Given the description of an element on the screen output the (x, y) to click on. 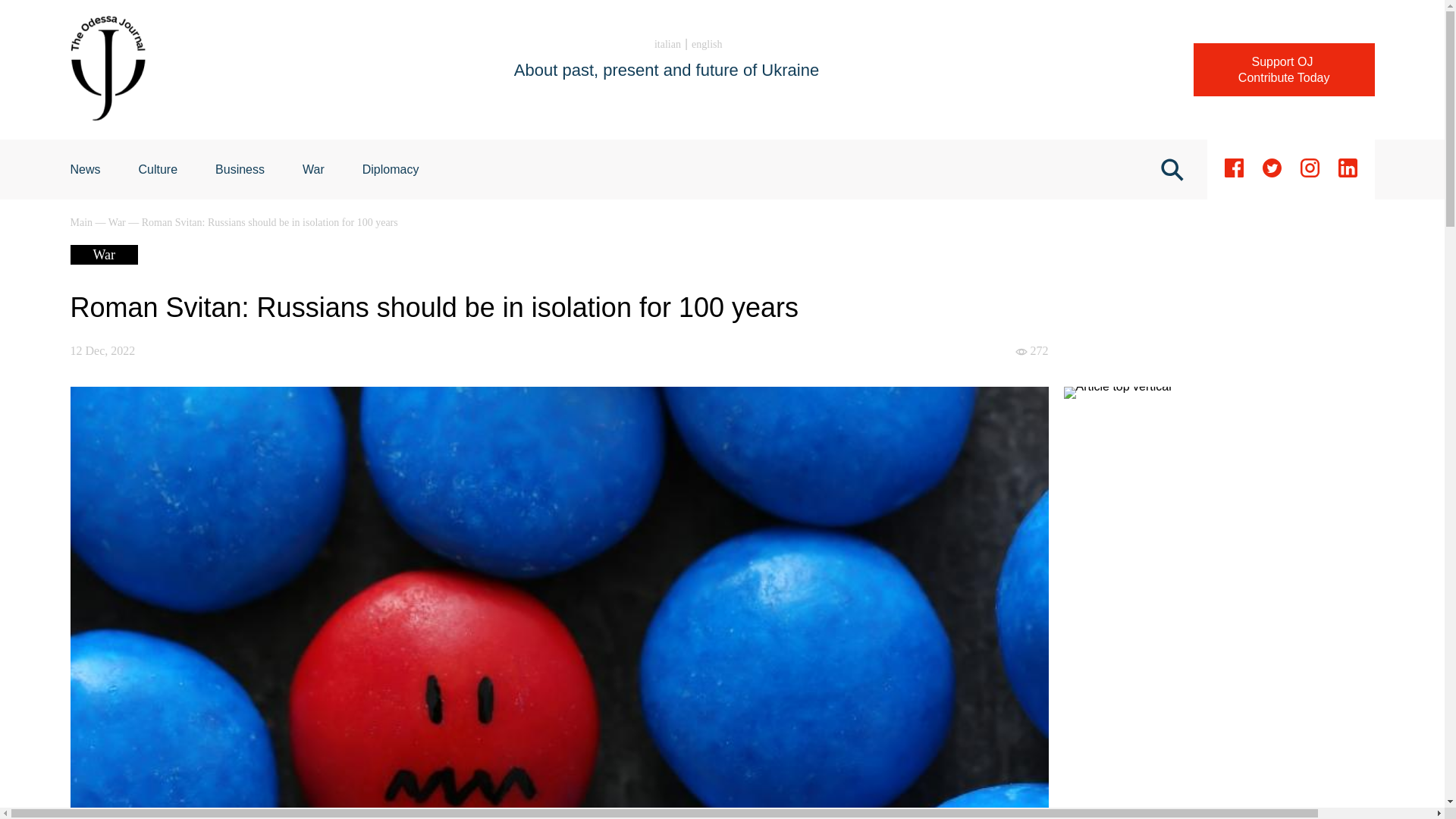
Culture (157, 169)
War (117, 222)
War (313, 169)
Support (1283, 69)
Culture (1283, 69)
italian (157, 169)
War (667, 43)
News (313, 169)
Diplomacy (84, 169)
